Given the description of an element on the screen output the (x, y) to click on. 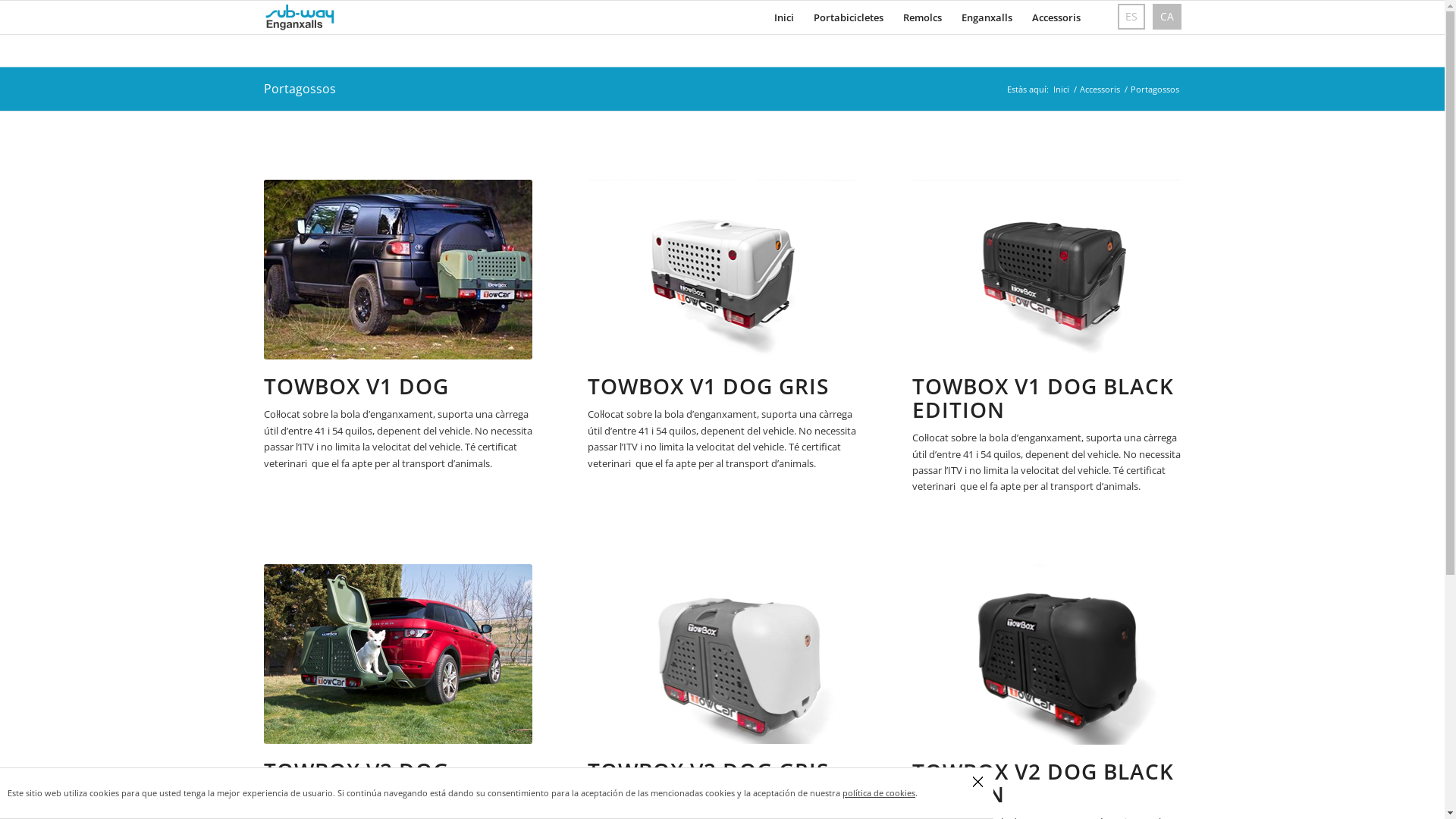
Inici Element type: text (1061, 88)
Accessoris Element type: text (1056, 17)
Inici Element type: text (783, 17)
towbox v1 dog gris 2 Element type: hover (721, 269)
towbox v1 dog 2 Element type: hover (398, 269)
Remolcs Element type: text (922, 17)
CA Element type: text (1166, 16)
ACEPTAR Element type: text (977, 781)
towbox v2 black edition Element type: hover (1046, 654)
Accessoris Element type: text (1098, 88)
Portagossos Element type: text (299, 88)
towbox v2 dog gris Element type: hover (721, 654)
Enganxalls Element type: text (985, 17)
Portabicicletes Element type: text (848, 17)
towbox v1 dog black edition 2 Element type: hover (1046, 269)
ES Element type: text (1131, 16)
towbox v2 dog Element type: hover (398, 654)
